Given the description of an element on the screen output the (x, y) to click on. 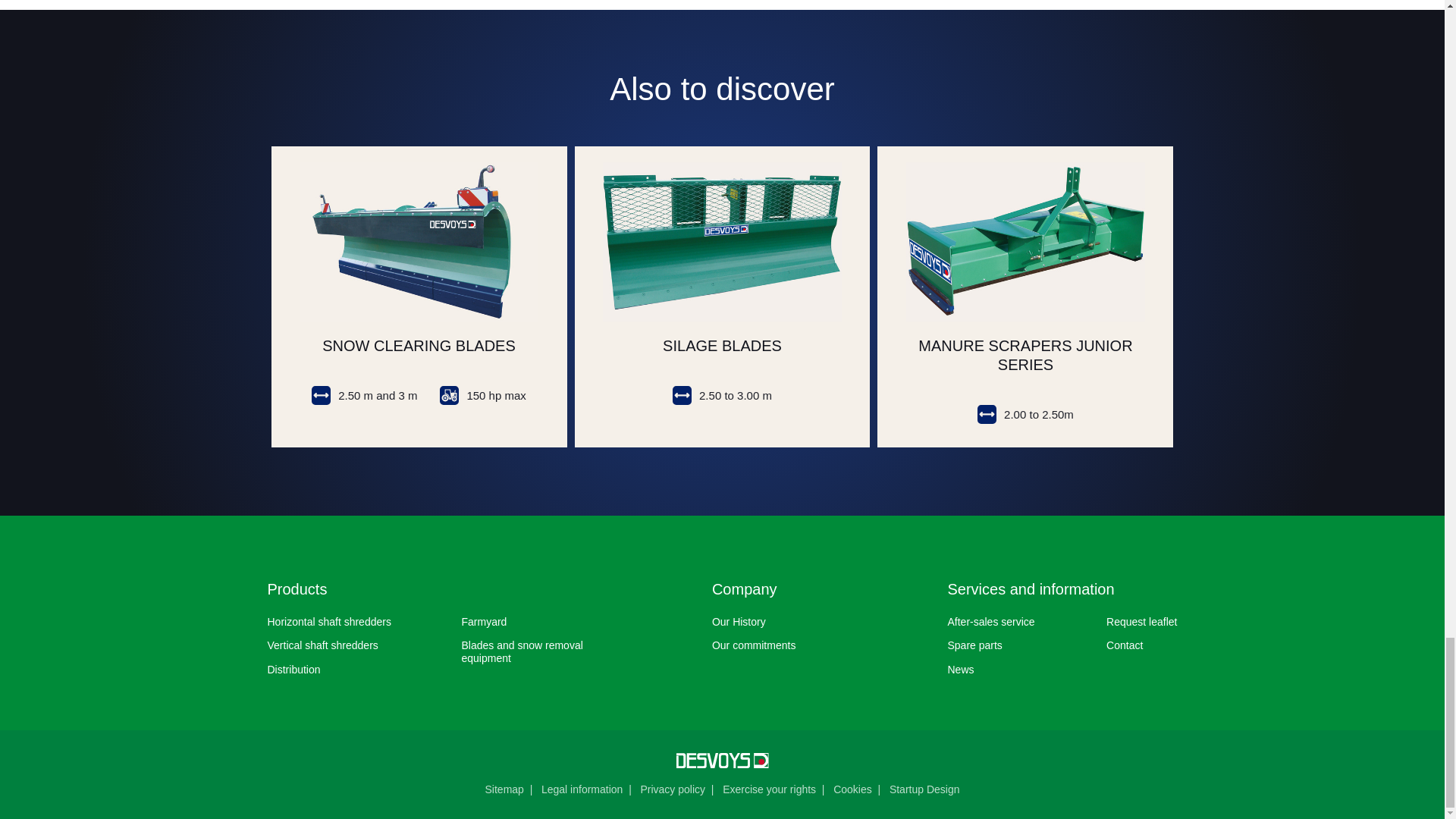
Farmyard (483, 621)
Horizontal shaft shredders (328, 621)
News (960, 669)
Silage blades (722, 296)
Vertical shaft shredders (321, 645)
Our commitments (752, 645)
Snow clearing blades (419, 296)
Silage blades (722, 296)
Snow clearing blades (419, 296)
Distribution (293, 669)
Blades and snow removal equipment (521, 651)
Our History (738, 621)
Spare parts (974, 645)
After-sales service (990, 621)
Manure scrapers junior series (1024, 296)
